Given the description of an element on the screen output the (x, y) to click on. 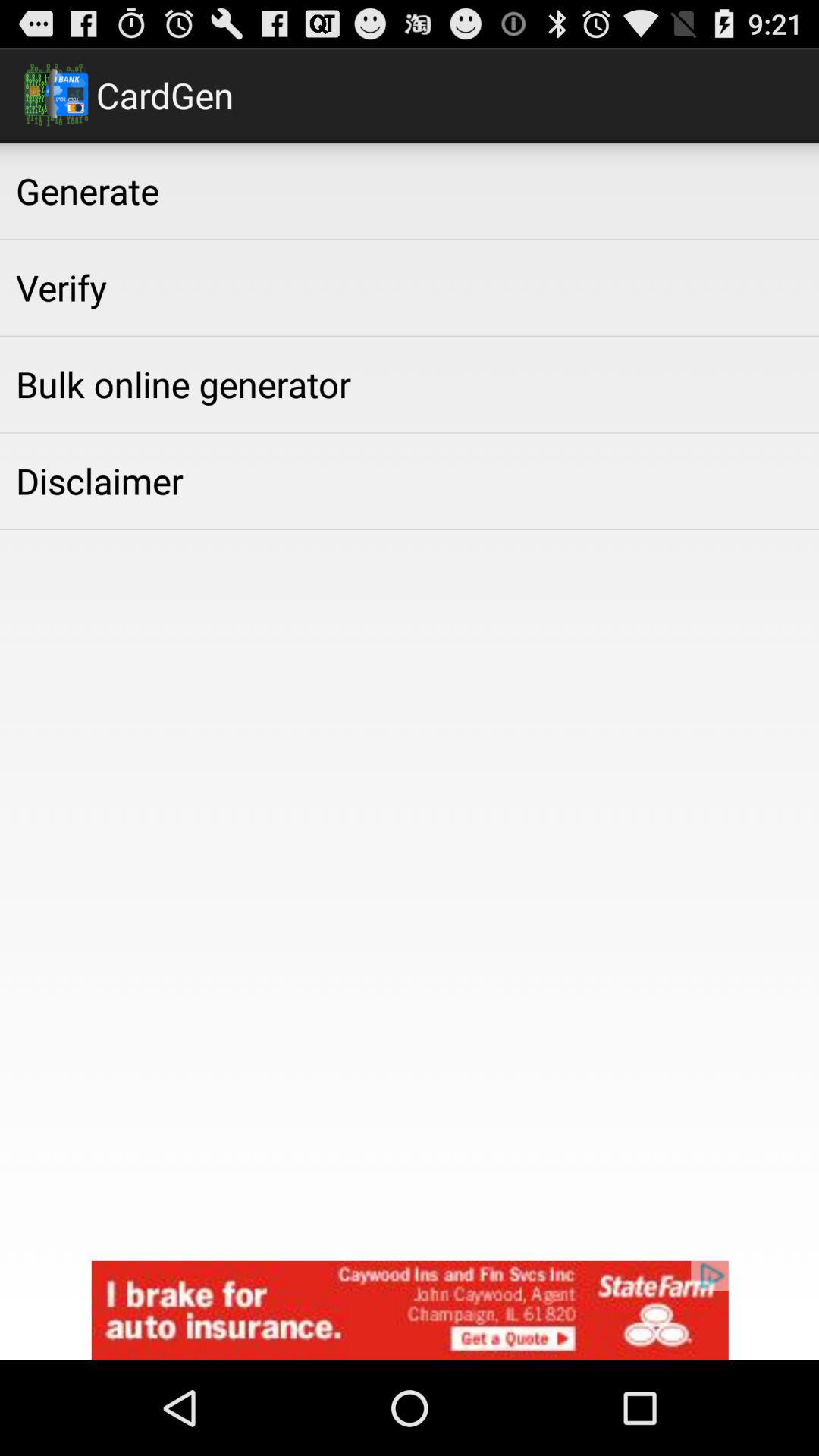
state fana (409, 1310)
